Given the description of an element on the screen output the (x, y) to click on. 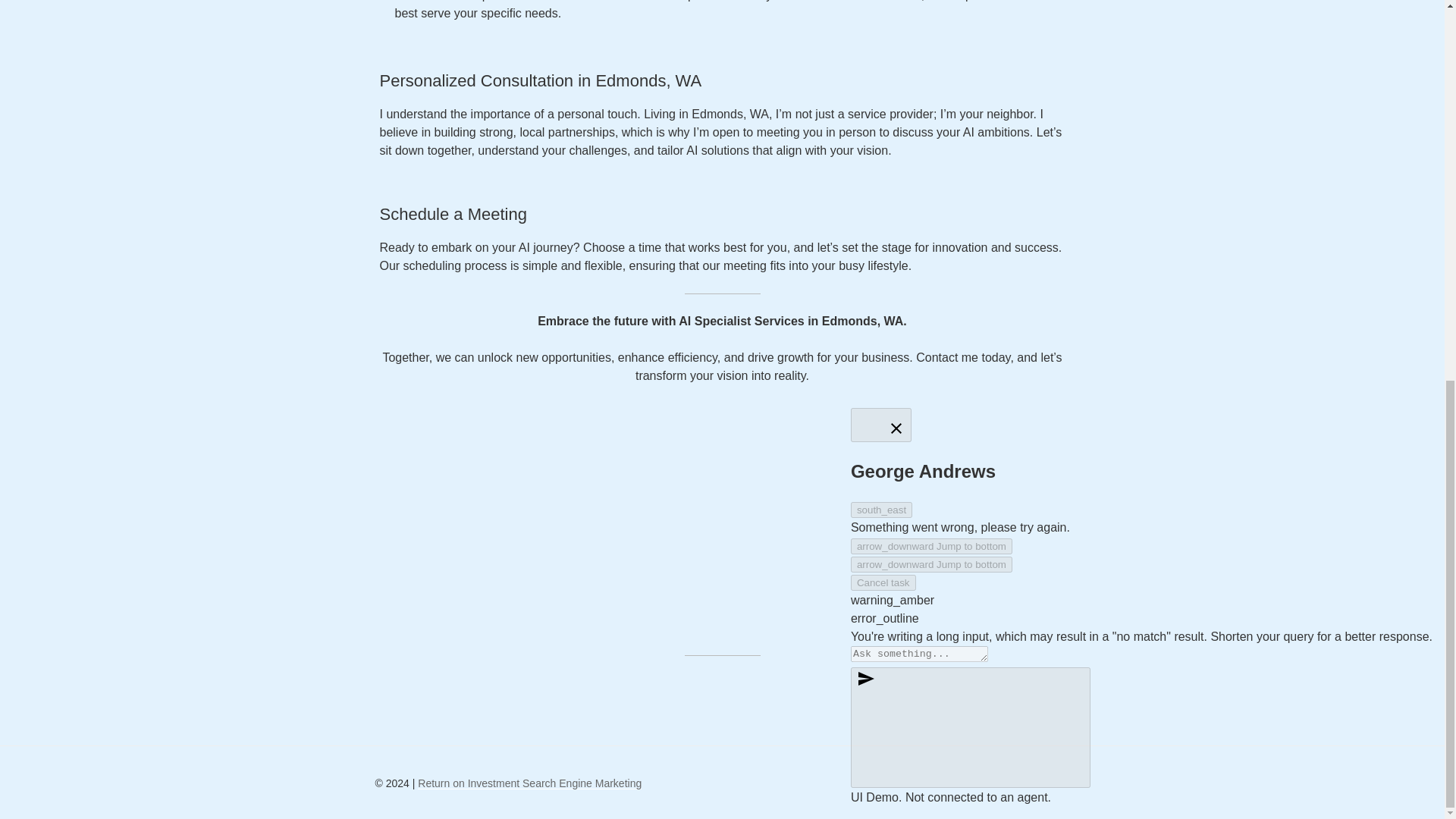
Link to Roisem homepage (529, 783)
Return on Investment Search Engine Marketing (529, 783)
